Given the description of an element on the screen output the (x, y) to click on. 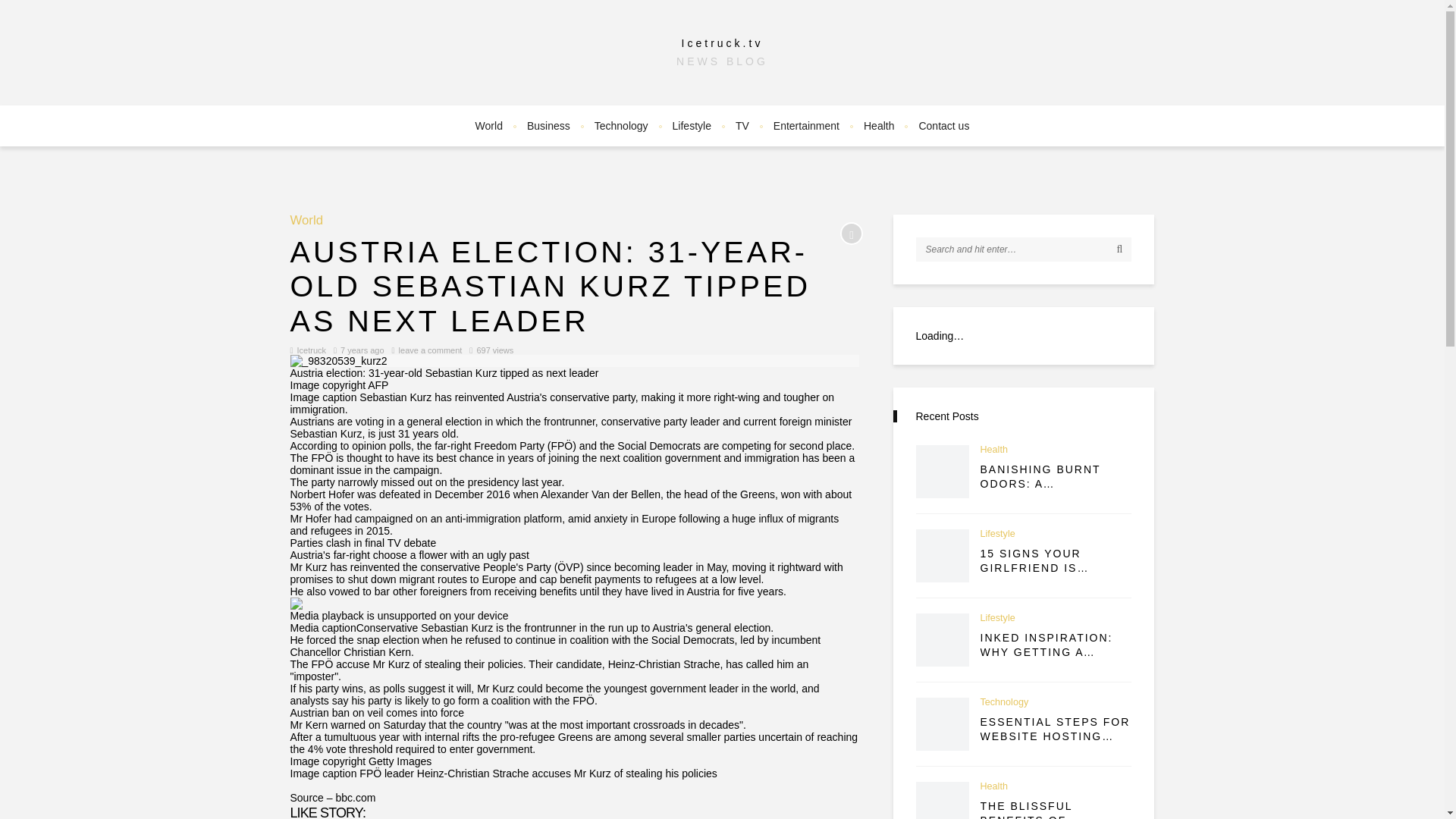
World (488, 125)
Icetruck.tv (721, 42)
Contact us (943, 125)
World (306, 220)
World (306, 220)
Business (548, 125)
Lifestyle (692, 125)
leave a comment (430, 349)
Icetruck (311, 349)
Entertainment (806, 125)
